Given the description of an element on the screen output the (x, y) to click on. 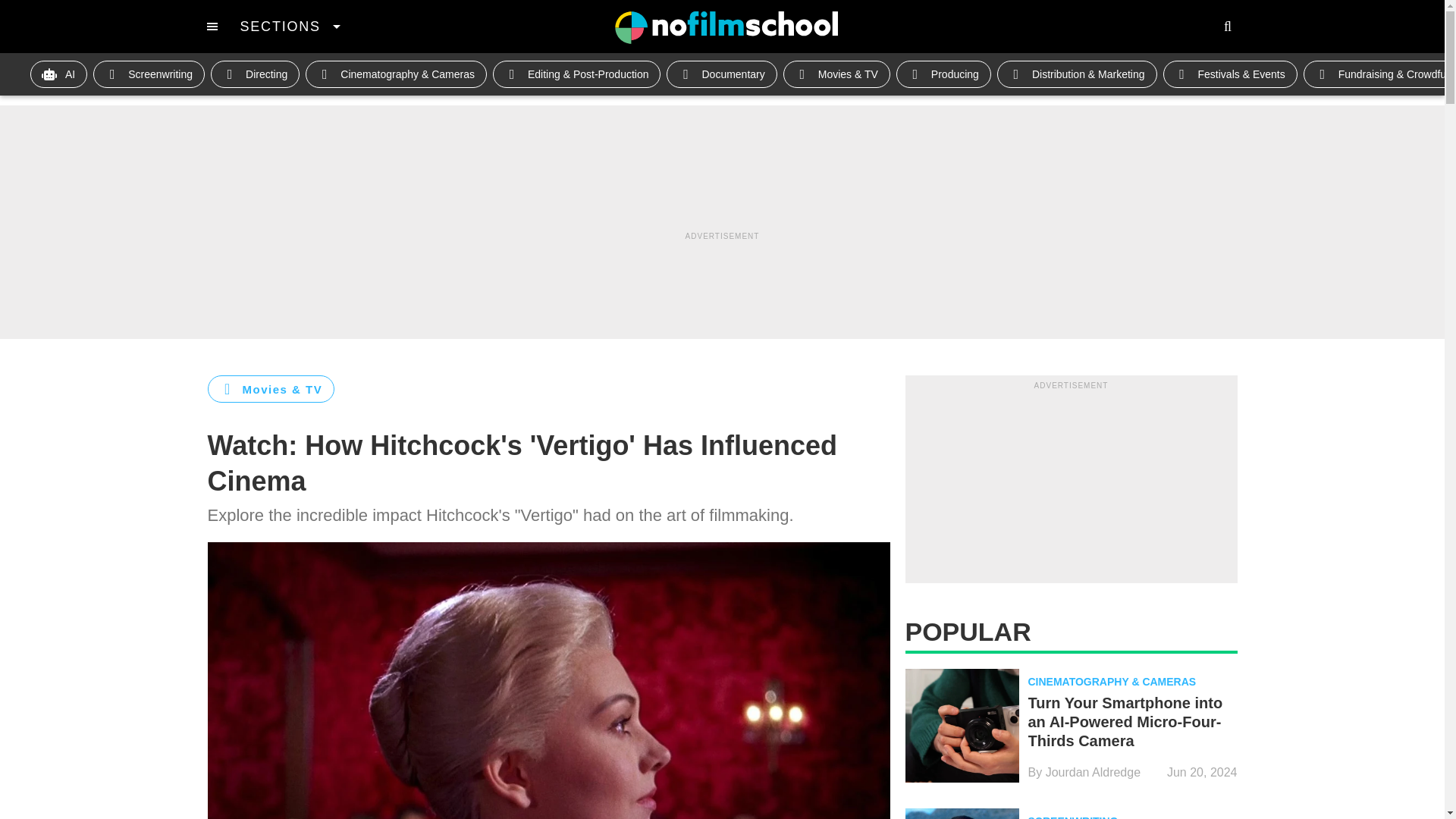
Directing (255, 73)
AI (58, 73)
Documentary (721, 73)
SECTIONS (289, 26)
NO FILM SCHOOL (725, 27)
Producing (943, 73)
NO FILM SCHOOL (725, 27)
Screenwriting (149, 73)
